Given the description of an element on the screen output the (x, y) to click on. 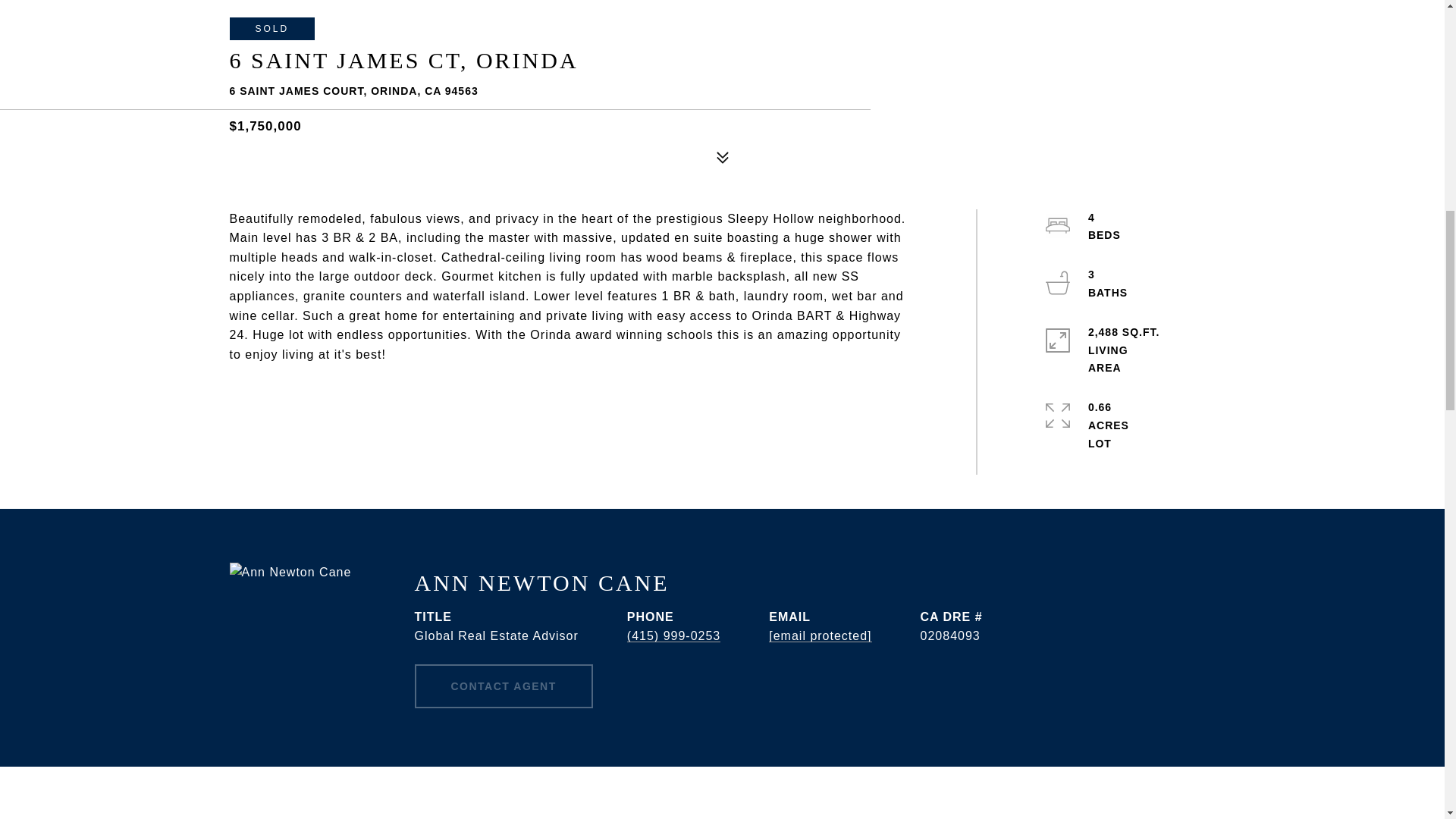
CONTACT AGENT (502, 686)
